Given the description of an element on the screen output the (x, y) to click on. 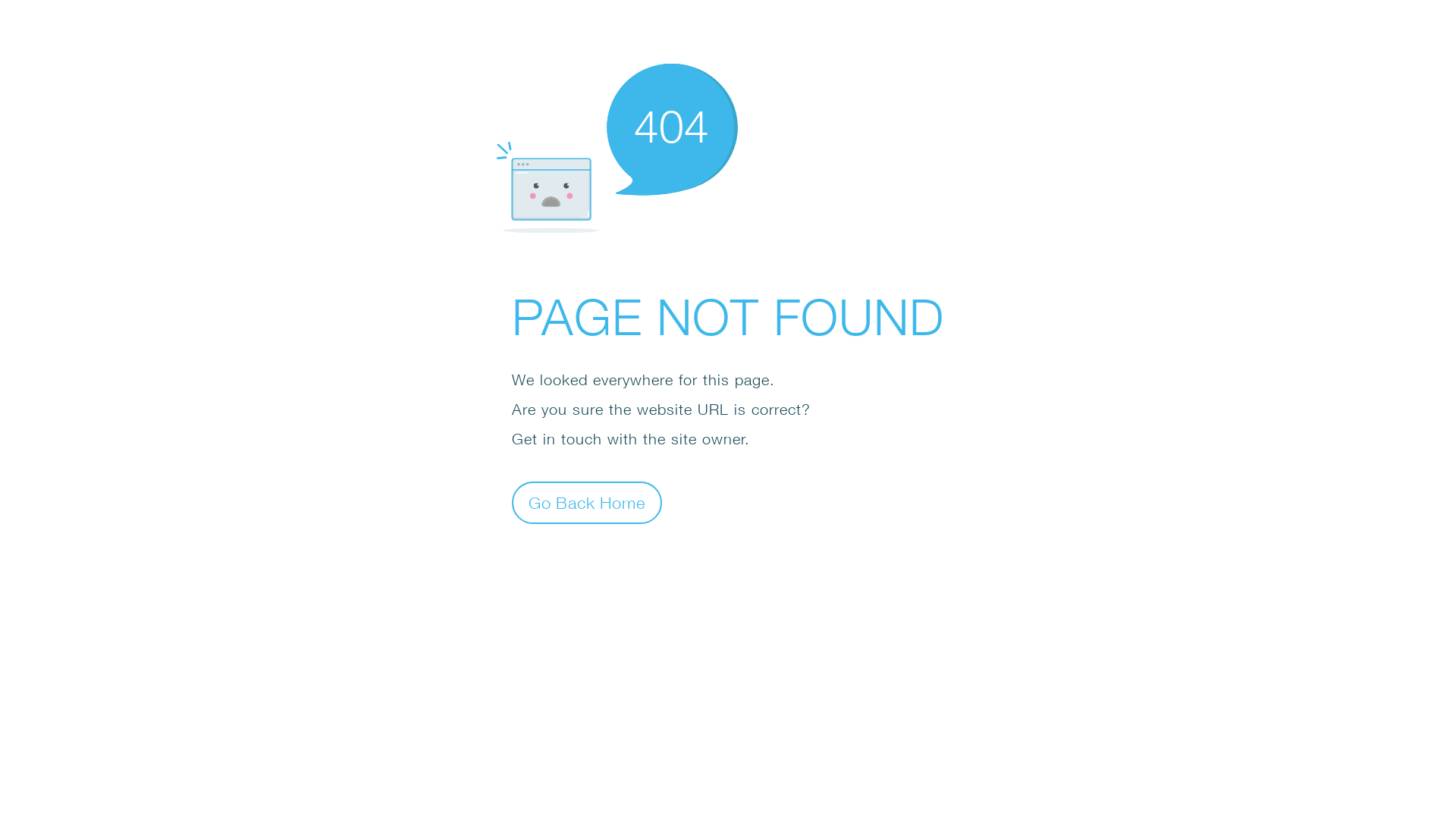
Go Back Home Element type: text (586, 502)
